Given the description of an element on the screen output the (x, y) to click on. 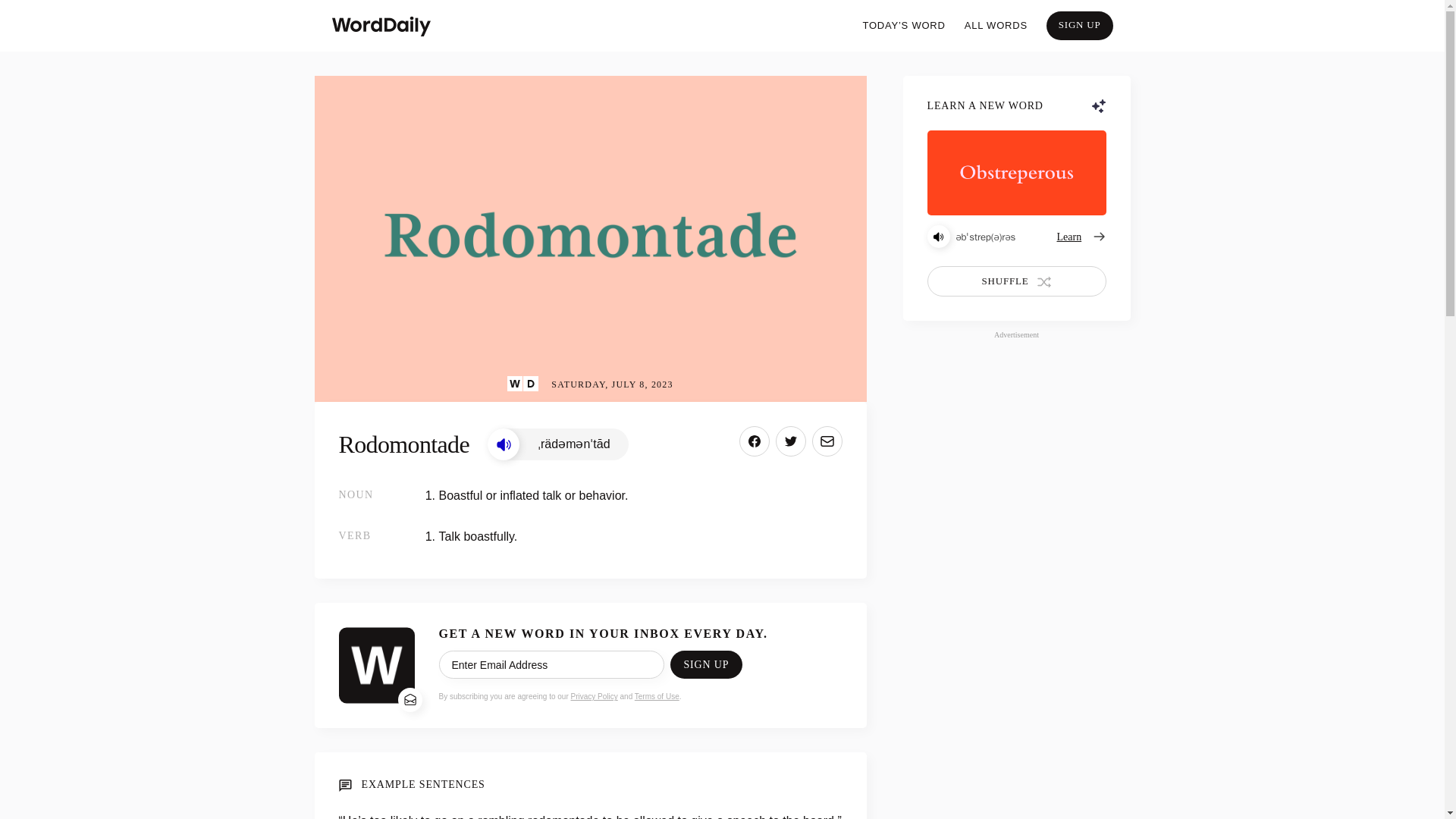
Terms of Use (656, 696)
Privacy Policy (593, 696)
SHUFFLE (1015, 281)
SIGN UP (1079, 25)
SIGN UP (705, 664)
Learn (1081, 236)
ALL WORDS (995, 26)
